Given the description of an element on the screen output the (x, y) to click on. 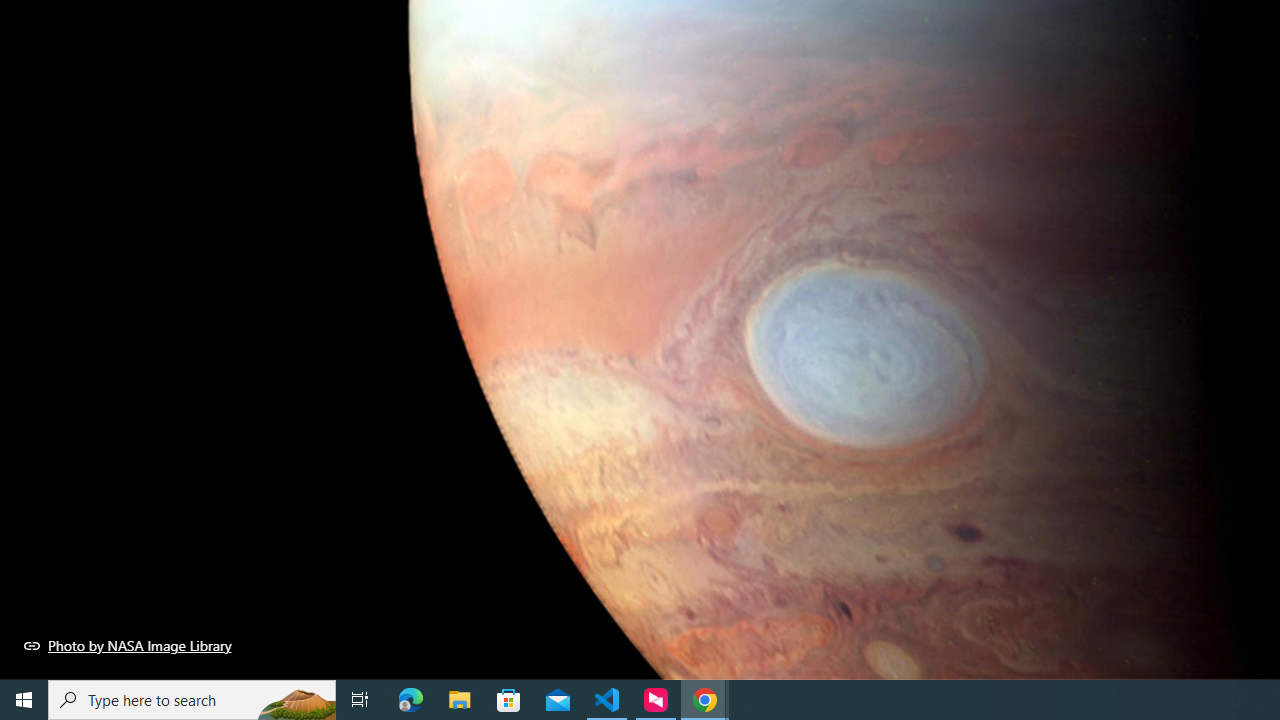
Photo by NASA Image Library (127, 645)
